Given the description of an element on the screen output the (x, y) to click on. 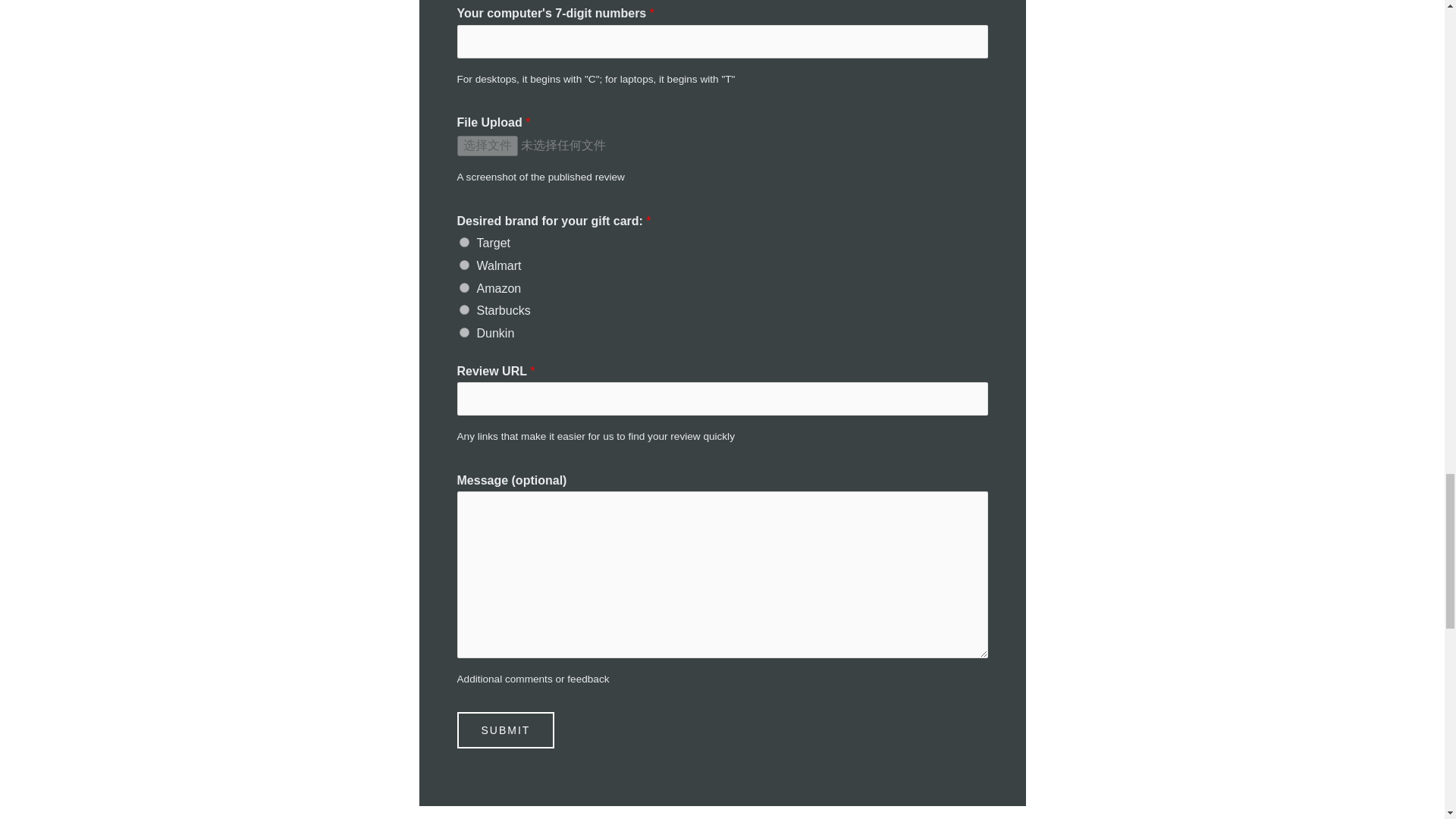
Target (464, 242)
Starbucks (464, 309)
Dunkin (464, 332)
Walmart (464, 265)
Amazon (464, 287)
